Given the description of an element on the screen output the (x, y) to click on. 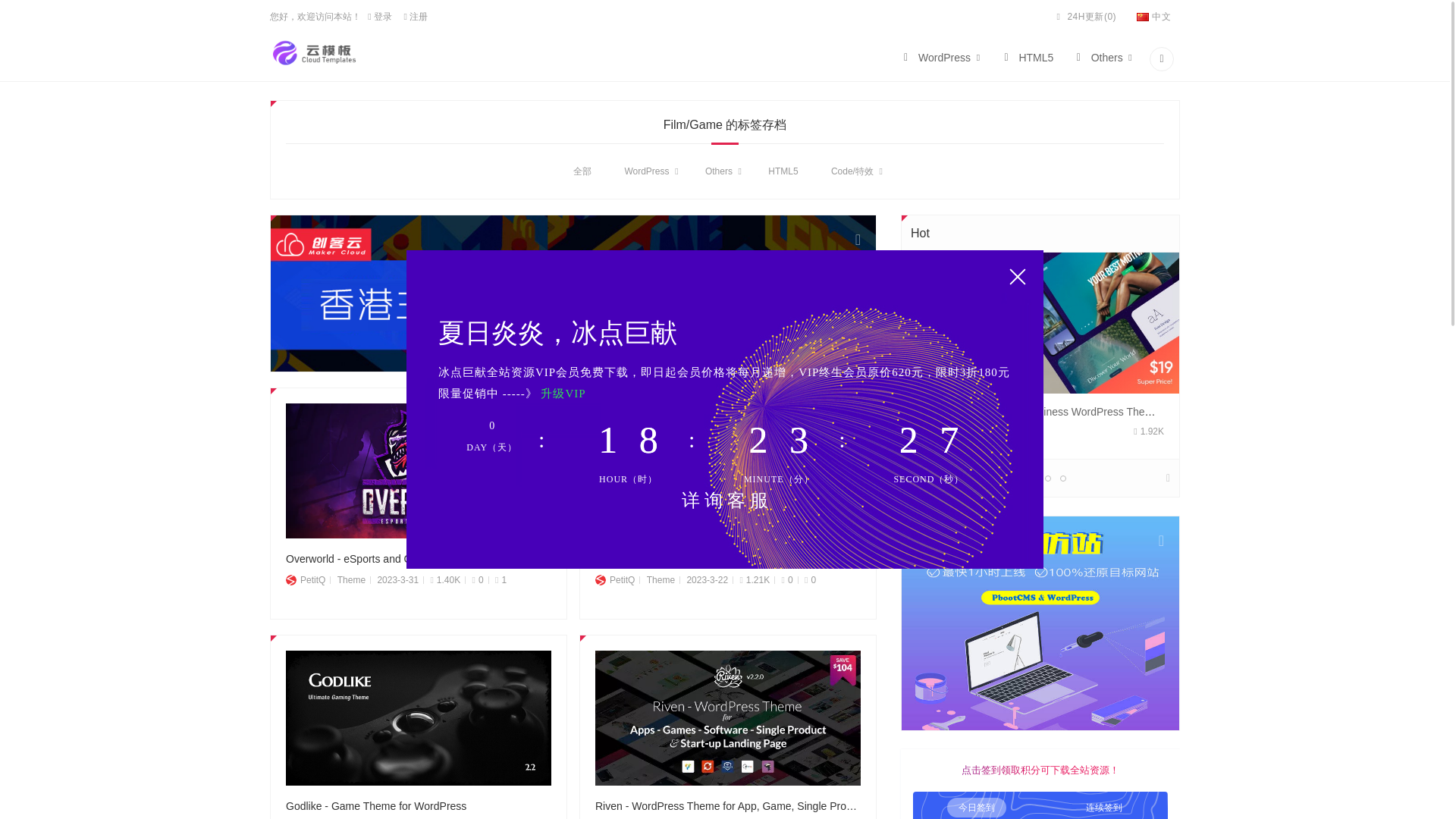
Overworld - eSports and Gaming Theme (418, 470)
Others (1102, 60)
WordPress (646, 178)
Overworld - eSports and Gaming Theme (418, 558)
HTML5 (1026, 60)
PetitQ (614, 579)
Cloud Template-WordPress Premium Themes and Plugins (315, 52)
Godlike - Game Theme for WordPress (418, 717)
WordPress (939, 60)
Others (718, 173)
Godlike - Game Theme for WordPress (418, 805)
12-10 (573, 293)
PetitQ (304, 579)
